Given the description of an element on the screen output the (x, y) to click on. 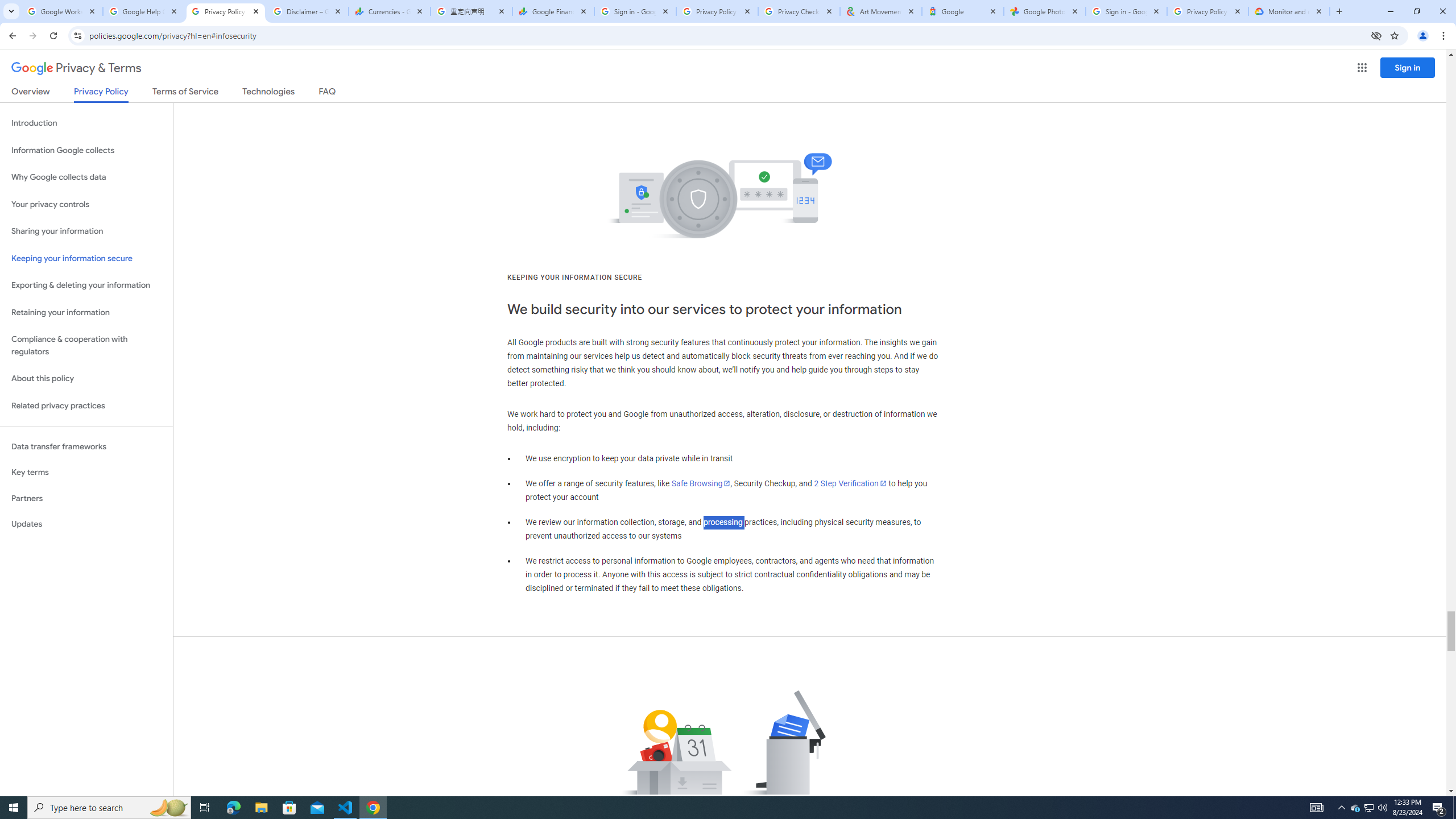
2 Step Verification (849, 483)
Google Workspace Admin Community (61, 11)
Related privacy practices (86, 405)
